Given the description of an element on the screen output the (x, y) to click on. 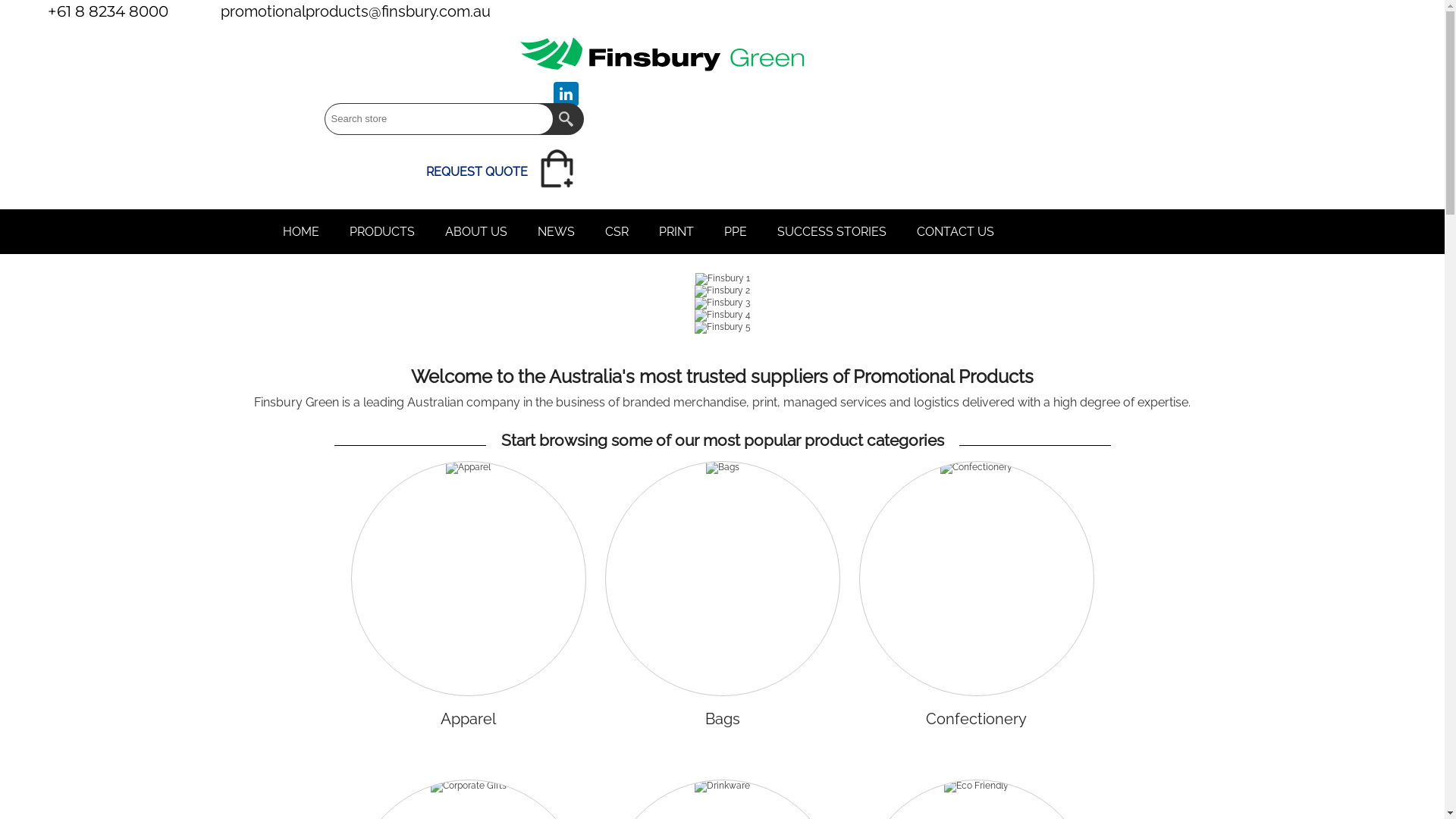
REQUEST QUOTE Element type: text (504, 172)
Corporate Gifts Element type: hover (468, 786)
Confectionery Element type: text (975, 718)
+61 8 8234 8000 Element type: text (97, 11)
Drinkware Element type: hover (721, 786)
SUCCESS STORIES Element type: text (830, 231)
HOME Element type: text (299, 231)
Eco Friendly Element type: hover (976, 786)
Drinkware Element type: hover (721, 786)
Apparel Element type: hover (467, 467)
Bags Element type: hover (721, 467)
promotionalproducts@finsbury.com.au Element type: text (346, 11)
NEWS Element type: text (555, 231)
Confectionery Element type: hover (976, 467)
Search Element type: text (567, 118)
Apparel Element type: text (467, 718)
Bags Element type: hover (721, 467)
CSR Element type: text (616, 231)
PPE Element type: text (734, 231)
ABOUT US Element type: text (475, 231)
Bags Element type: text (722, 718)
PRODUCTS Element type: text (381, 231)
Eco Friendly Element type: hover (976, 786)
PRINT Element type: text (675, 231)
Confectionery Element type: hover (976, 467)
CONTACT US Element type: text (954, 231)
Corporate Gifts Element type: hover (468, 786)
Apparel Element type: hover (468, 467)
